Given the description of an element on the screen output the (x, y) to click on. 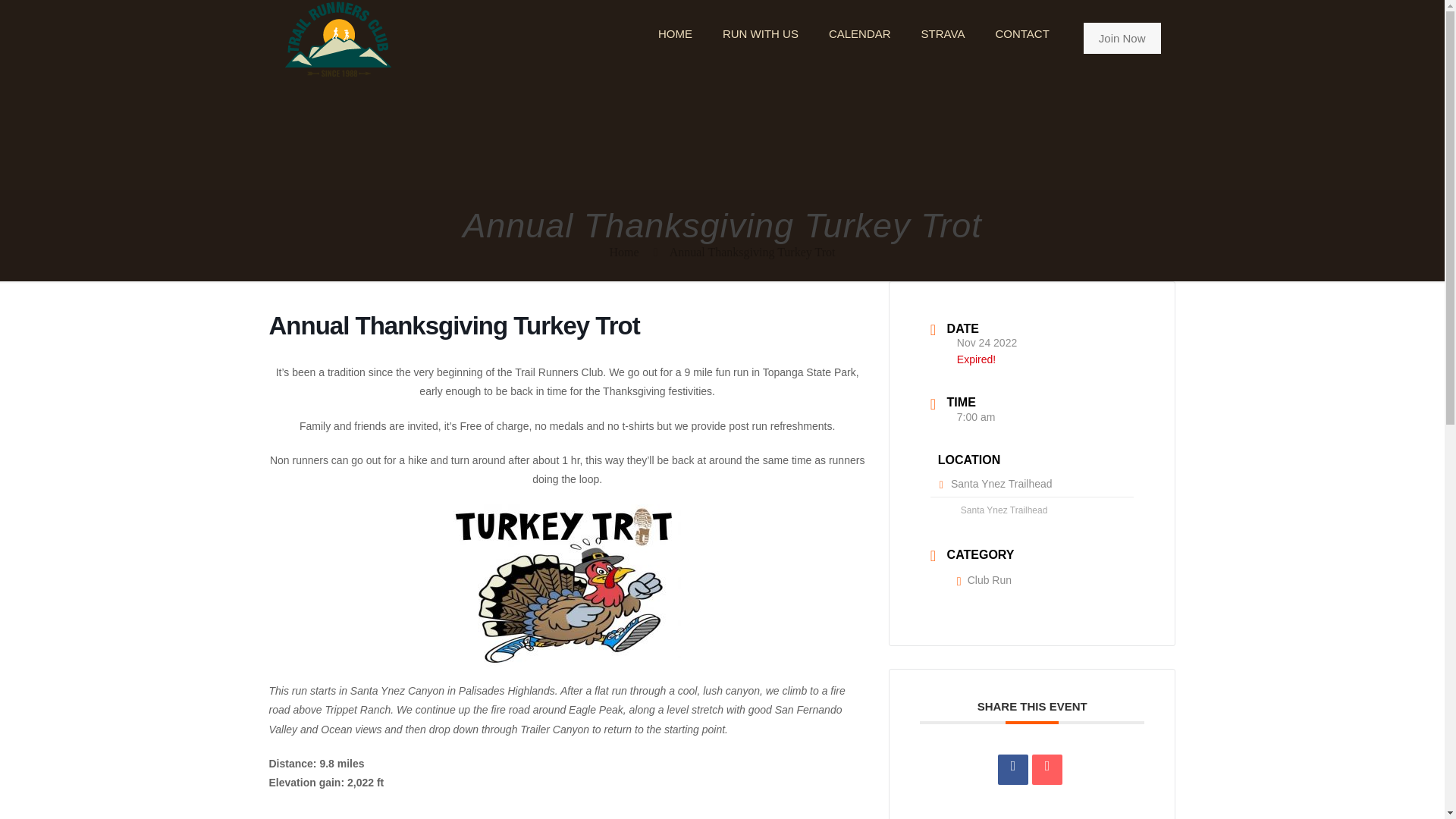
STRAVA (942, 33)
Email (1047, 769)
Share on Facebook (1012, 769)
Join Now (1121, 38)
CALENDAR (859, 33)
Home (624, 251)
Club Run (983, 580)
Annual Thanksgiving Turkey Trot (752, 251)
RUN WITH US (760, 33)
Trail Runners Club (336, 38)
HOME (675, 33)
CONTACT (1021, 33)
